Given the description of an element on the screen output the (x, y) to click on. 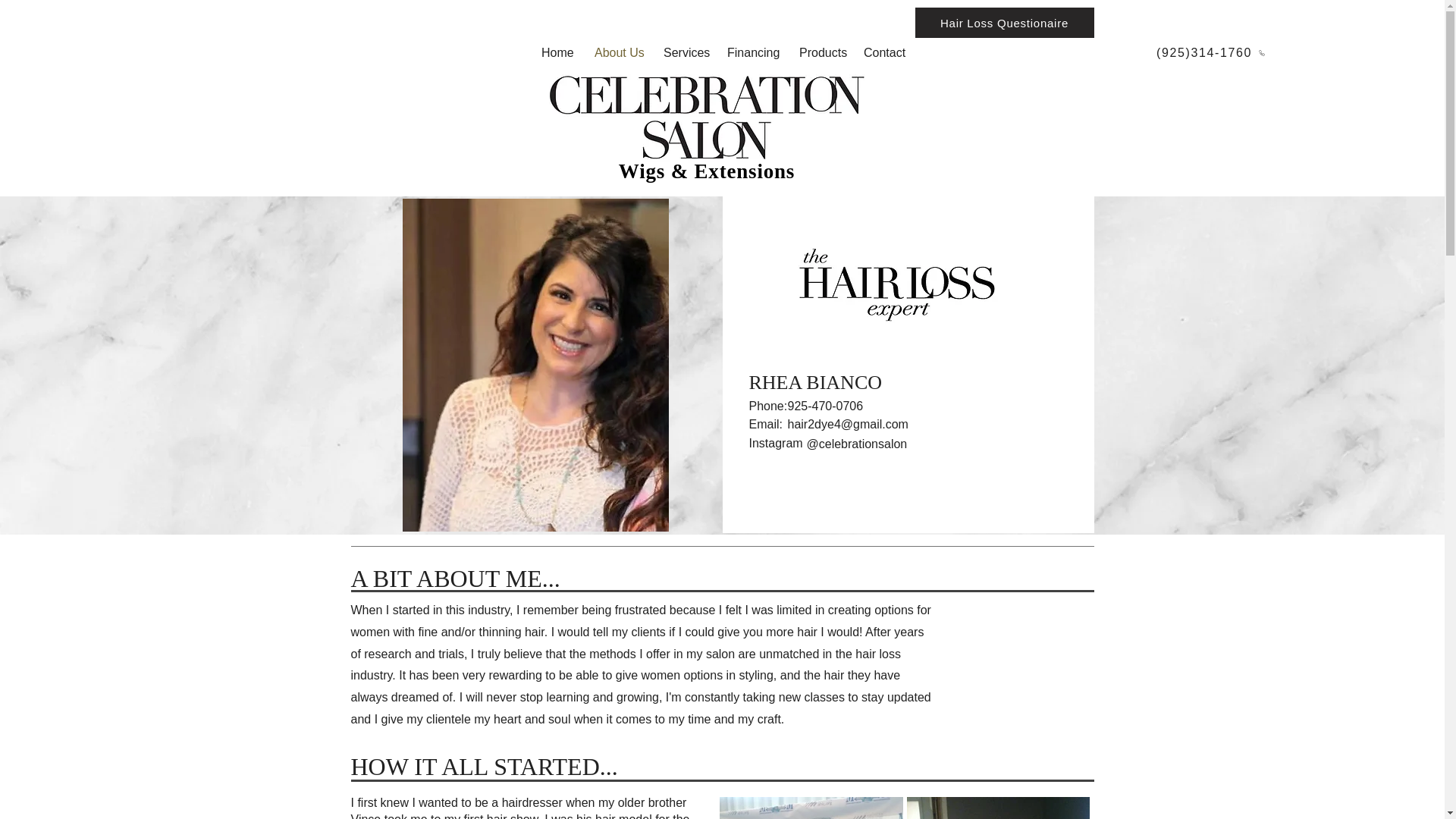
About Us (617, 53)
Home (556, 53)
Financing (751, 53)
Contact (882, 53)
Hair Loss Questionaire (1003, 22)
Services (684, 53)
Products (819, 53)
